Given the description of an element on the screen output the (x, y) to click on. 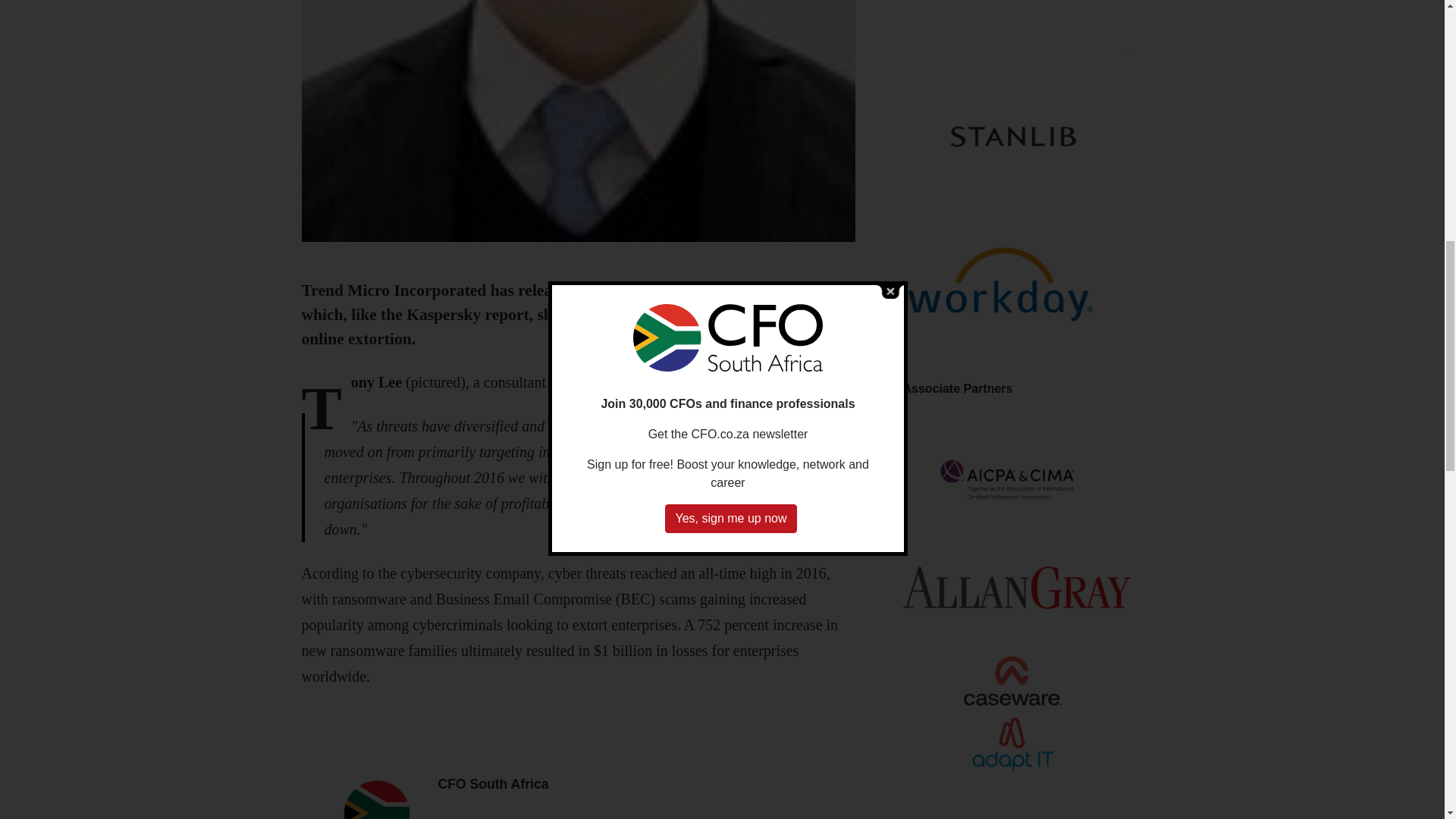
CFO South Africa (493, 783)
CFO South Africa (493, 783)
